Given the description of an element on the screen output the (x, y) to click on. 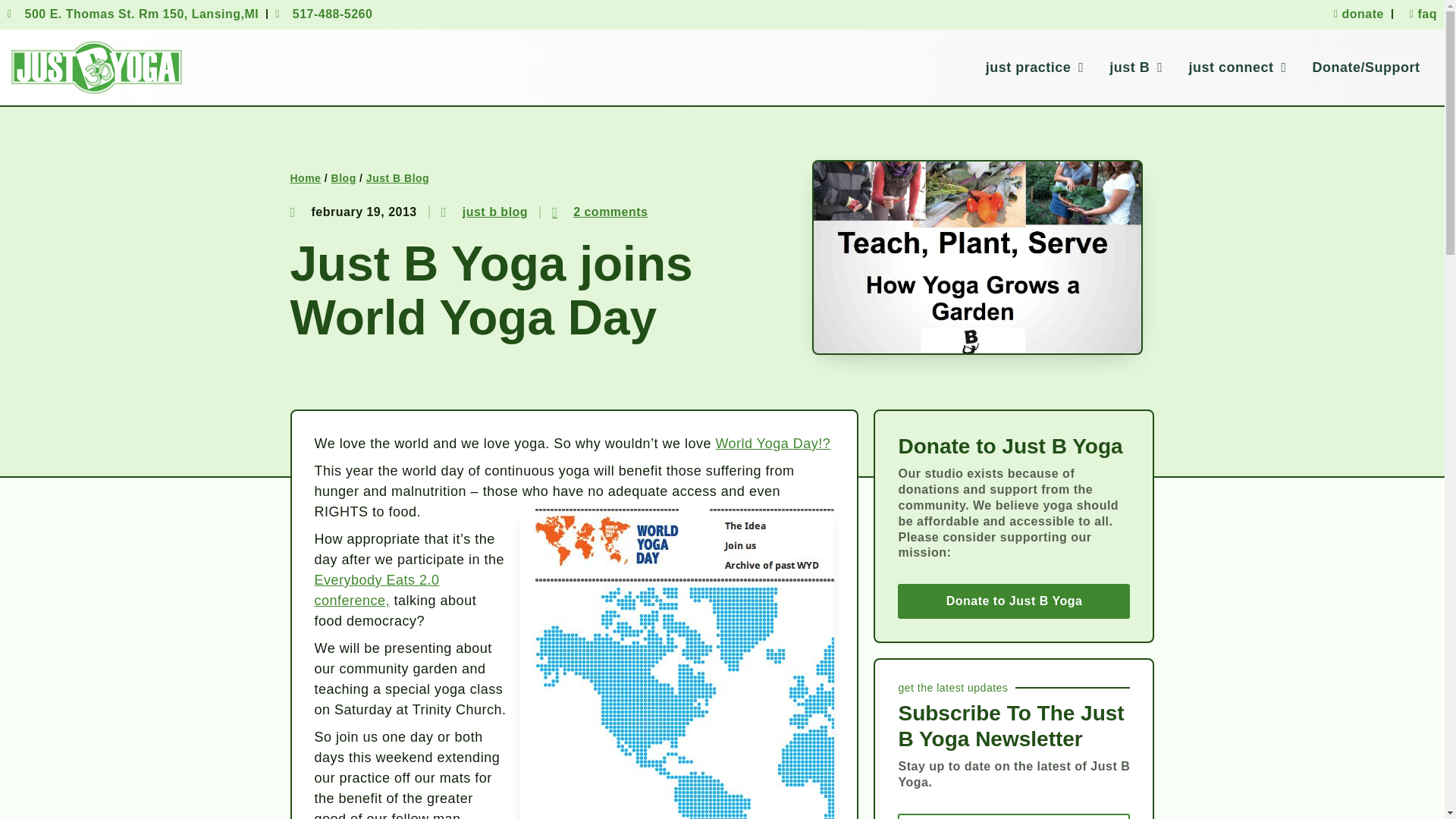
just practice (1035, 67)
just connect (1236, 67)
517-488-5260 (323, 14)
faq (1418, 14)
just B (1135, 67)
jby bigger world yoga screen (676, 663)
donate (1354, 14)
